Given the description of an element on the screen output the (x, y) to click on. 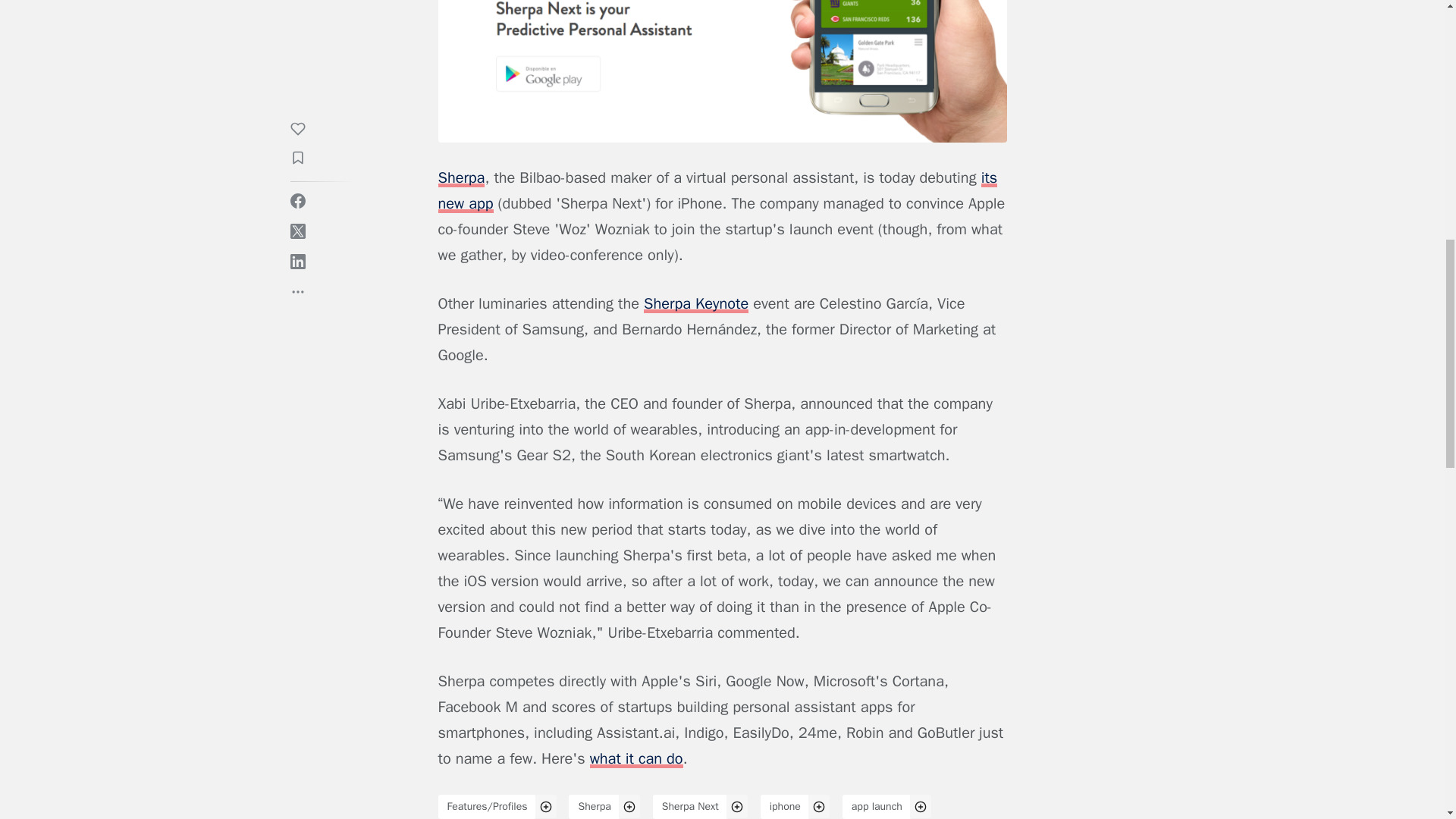
app launch (877, 806)
Sherpa (594, 806)
iphone (784, 806)
Sherpa Next (690, 806)
